Given the description of an element on the screen output the (x, y) to click on. 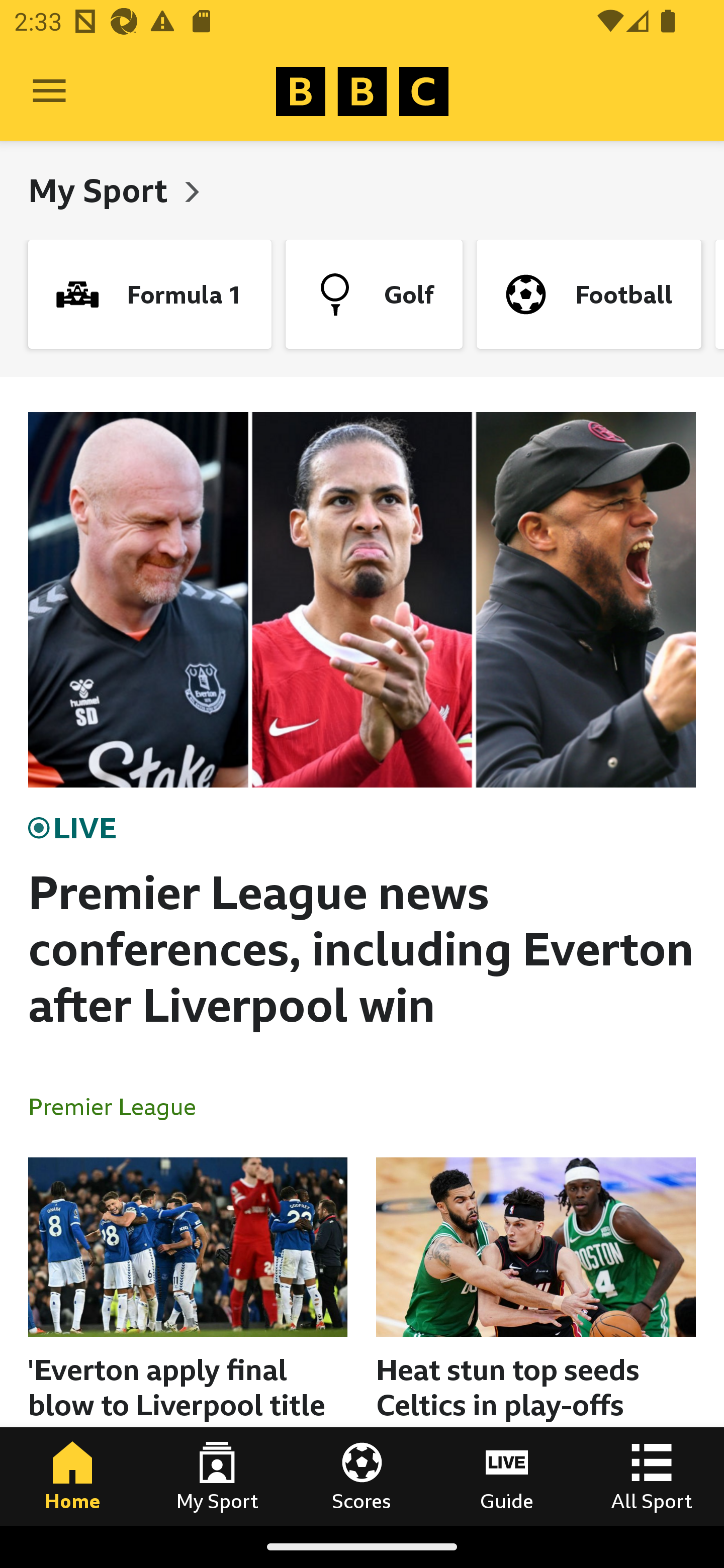
Open Menu (49, 91)
My Sport (101, 190)
Premier League In the section Premier League (119, 1106)
My Sport (216, 1475)
Scores (361, 1475)
Guide (506, 1475)
All Sport (651, 1475)
